Given the description of an element on the screen output the (x, y) to click on. 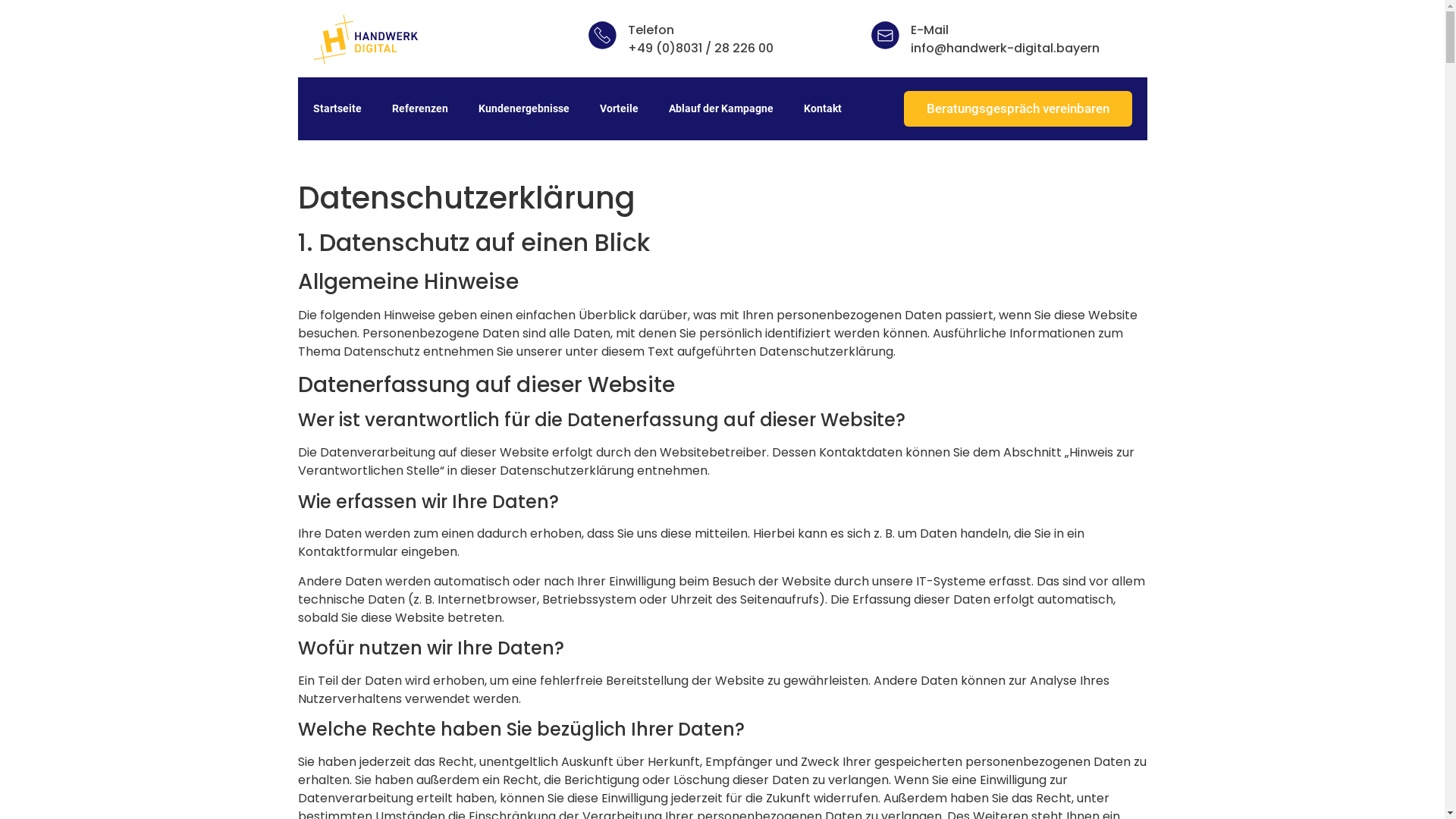
Vorteile Element type: text (617, 108)
Kontakt Element type: text (822, 108)
Kundenergebnisse Element type: text (522, 108)
Ablauf der Kampagne Element type: text (720, 108)
Startseite Element type: text (336, 108)
Referenzen Element type: text (419, 108)
